Given the description of an element on the screen output the (x, y) to click on. 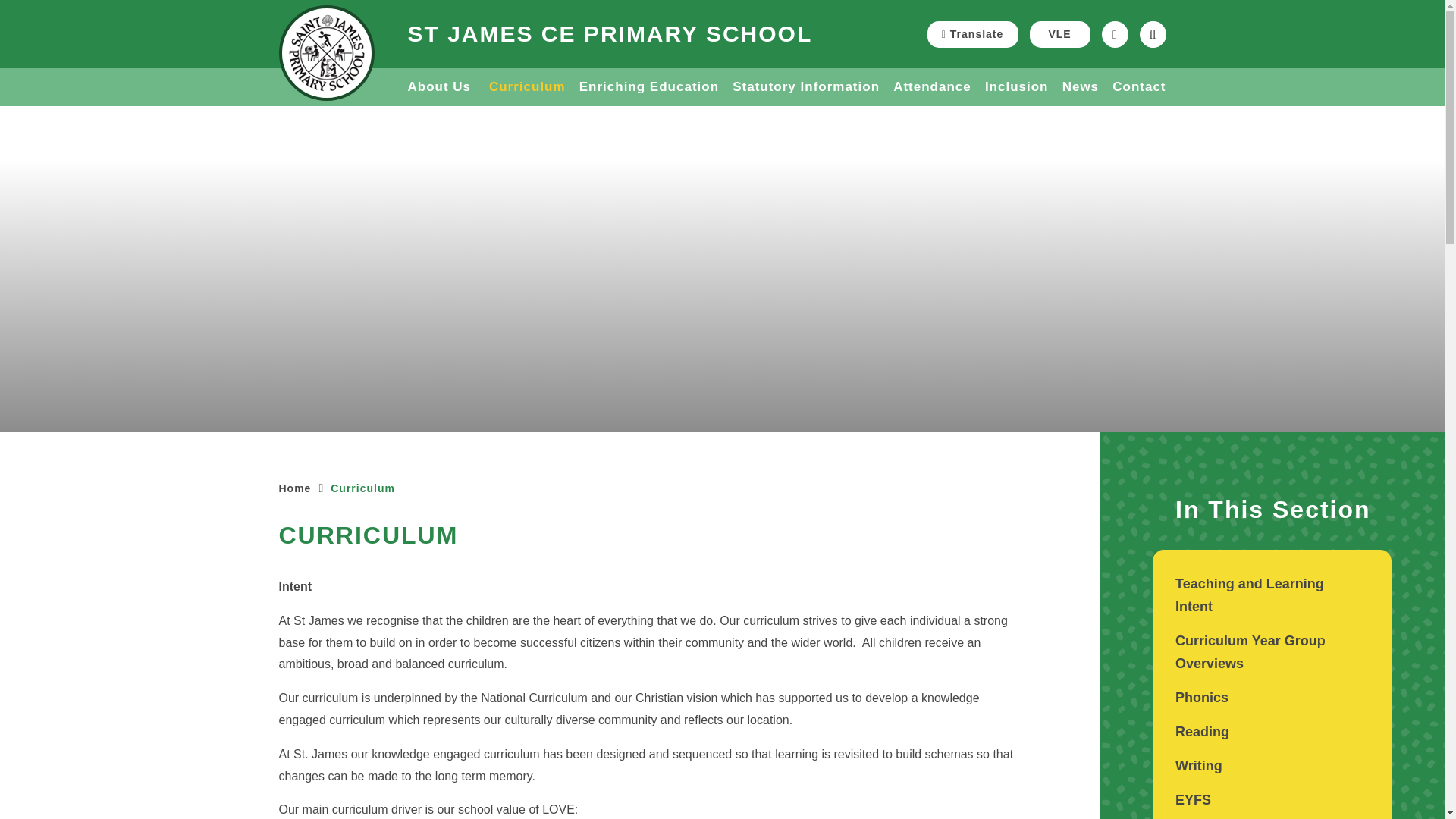
ST JAMES CE PRIMARY SCHOOL (609, 34)
Curriculum (527, 86)
Search (1152, 34)
About Us (441, 86)
